Given the description of an element on the screen output the (x, y) to click on. 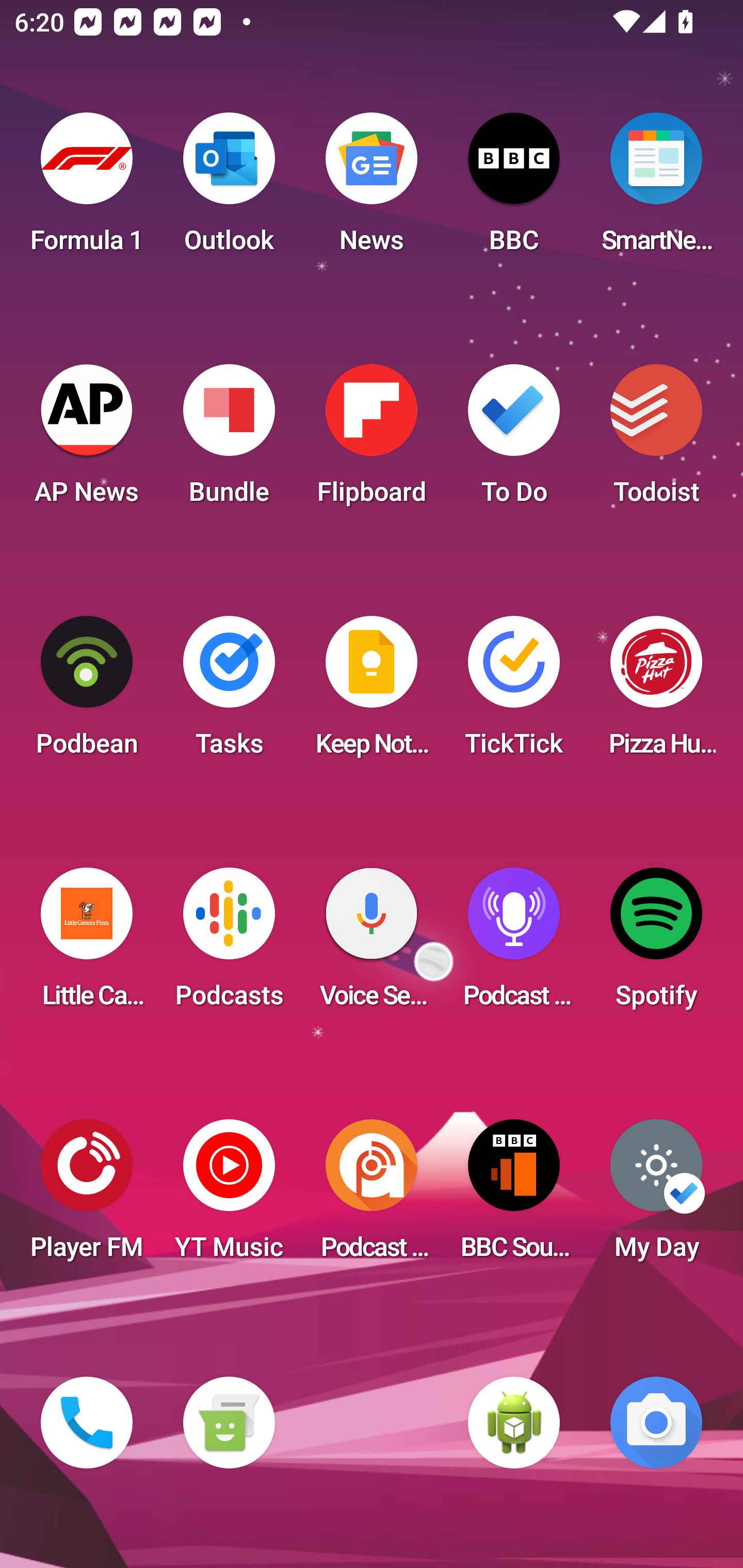
Formula 1 (86, 188)
Outlook (228, 188)
News (371, 188)
BBC (513, 188)
SmartNews (656, 188)
AP News (86, 440)
Bundle (228, 440)
Flipboard (371, 440)
To Do (513, 440)
Todoist (656, 440)
Podbean (86, 692)
Tasks (228, 692)
Keep Notes (371, 692)
TickTick (513, 692)
Pizza Hut HK & Macau (656, 692)
Little Caesars Pizza (86, 943)
Podcasts (228, 943)
Voice Search (371, 943)
Podcast Player (513, 943)
Spotify (656, 943)
Player FM (86, 1195)
YT Music (228, 1195)
Podcast Addict (371, 1195)
BBC Sounds (513, 1195)
My Day (656, 1195)
Phone (86, 1422)
Messaging (228, 1422)
WebView Browser Tester (513, 1422)
Camera (656, 1422)
